Given the description of an element on the screen output the (x, y) to click on. 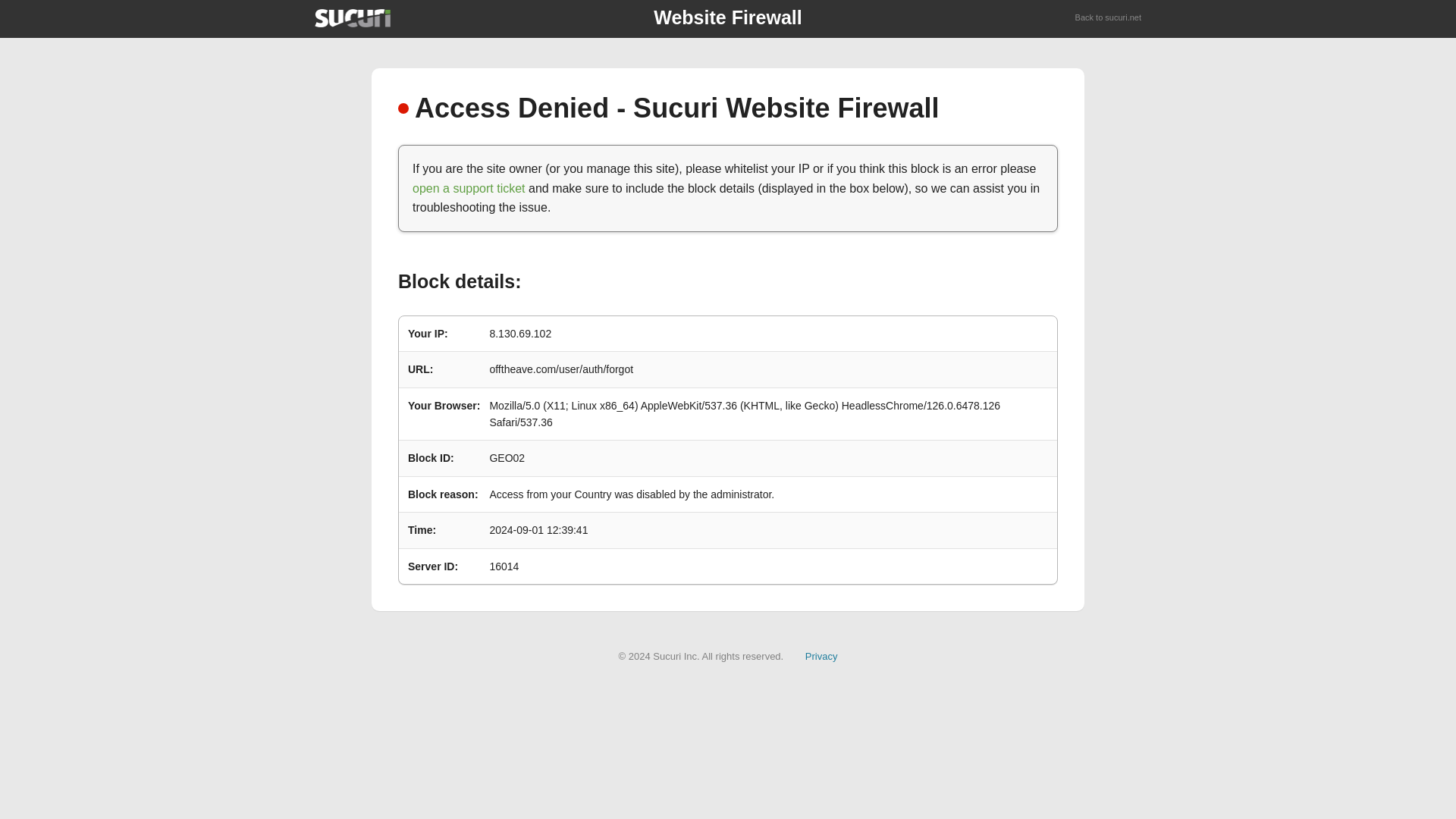
Privacy (821, 655)
open a support ticket (468, 187)
Back to sucuri.net (1108, 18)
